Given the description of an element on the screen output the (x, y) to click on. 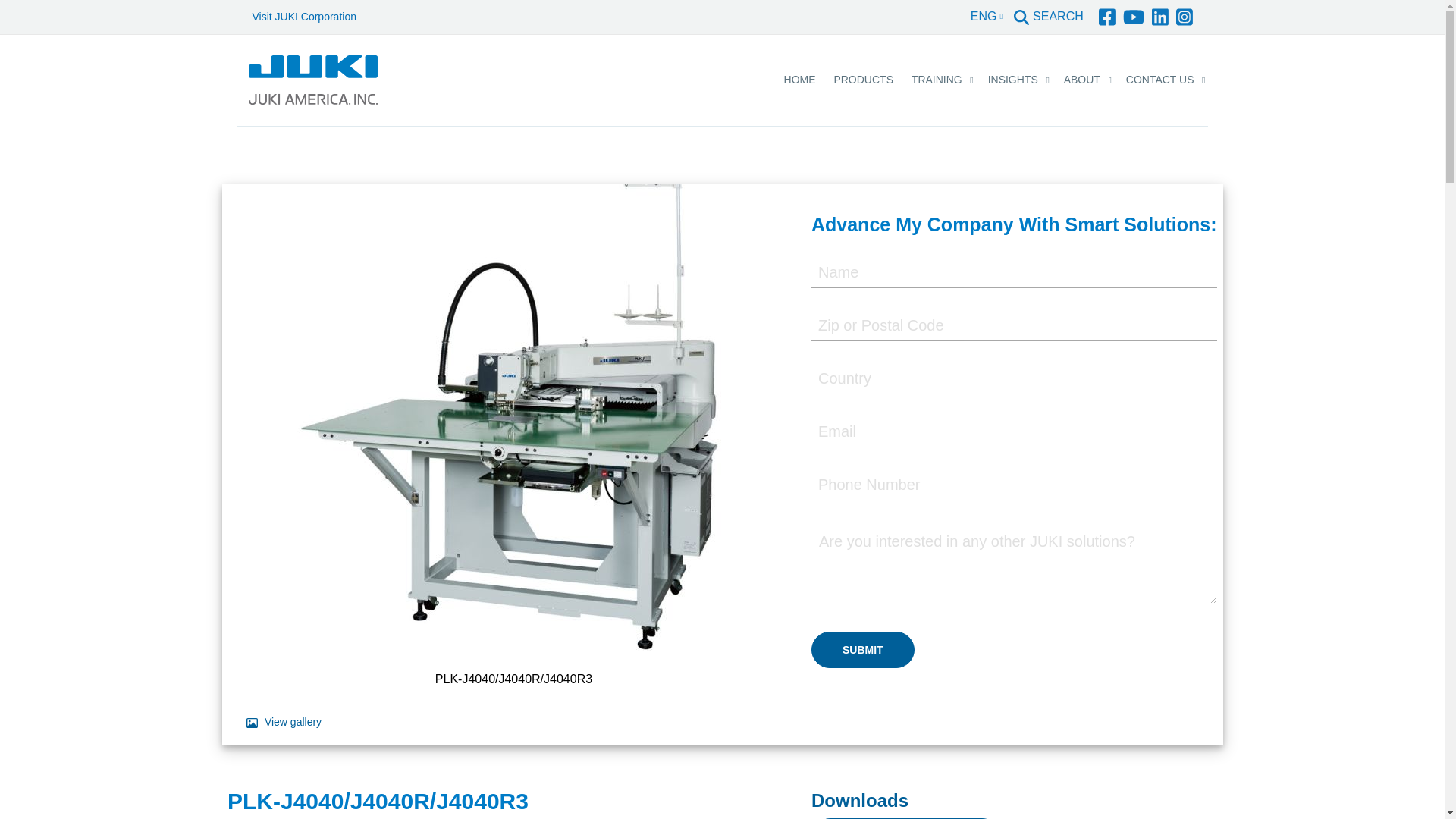
Country (1013, 378)
Visit JUKI Corporation (303, 16)
TRAINING (936, 79)
Phone Number (1013, 485)
Email (1013, 431)
INSIGHTS (1012, 79)
CONTACT US (1160, 79)
Name (1013, 272)
HOME (800, 79)
